Given the description of an element on the screen output the (x, y) to click on. 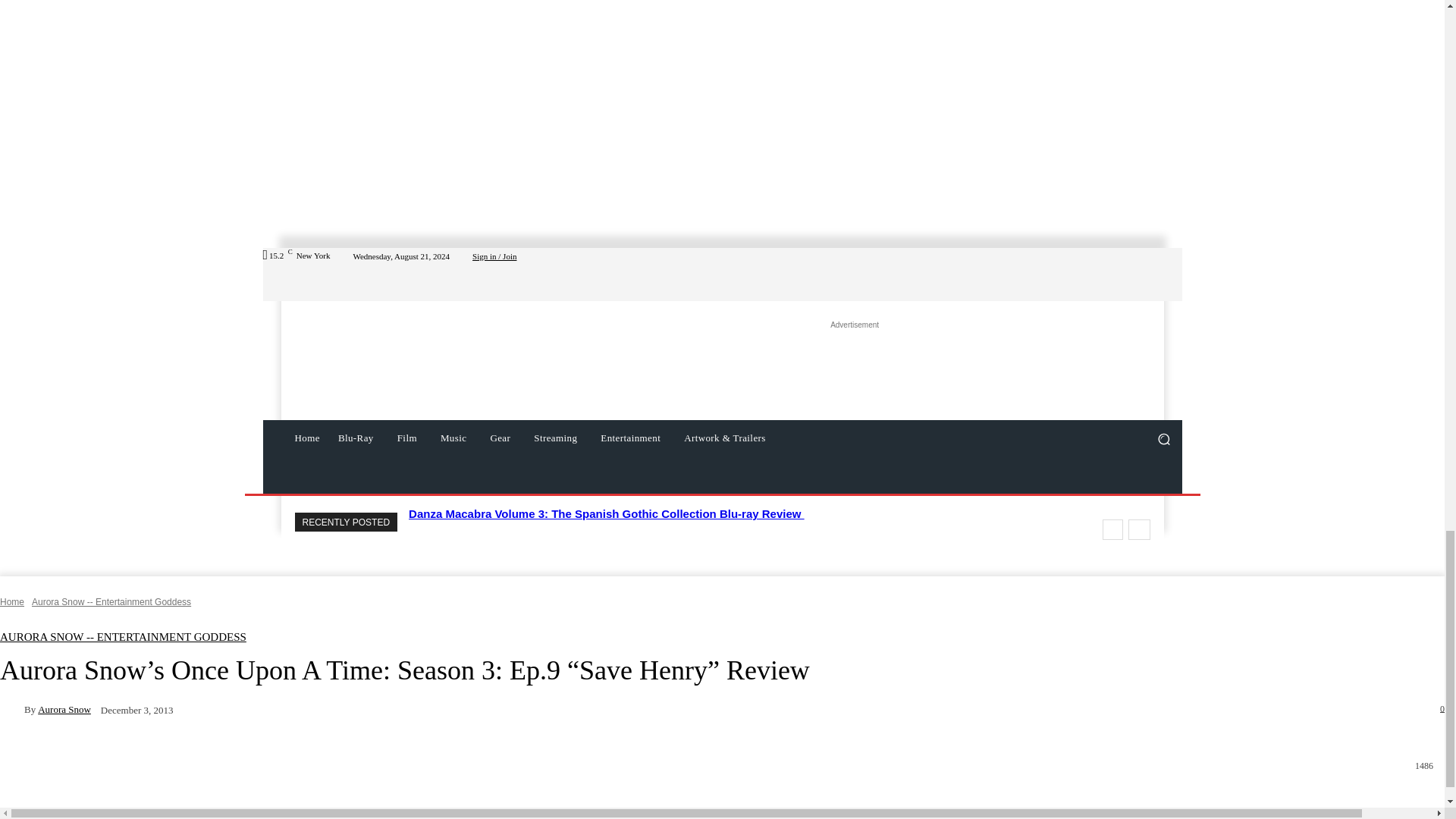
Twitter (1135, 274)
Instagram (1117, 274)
Facebook (1099, 274)
Vimeo (1153, 274)
Youtube (1171, 274)
